Given the description of an element on the screen output the (x, y) to click on. 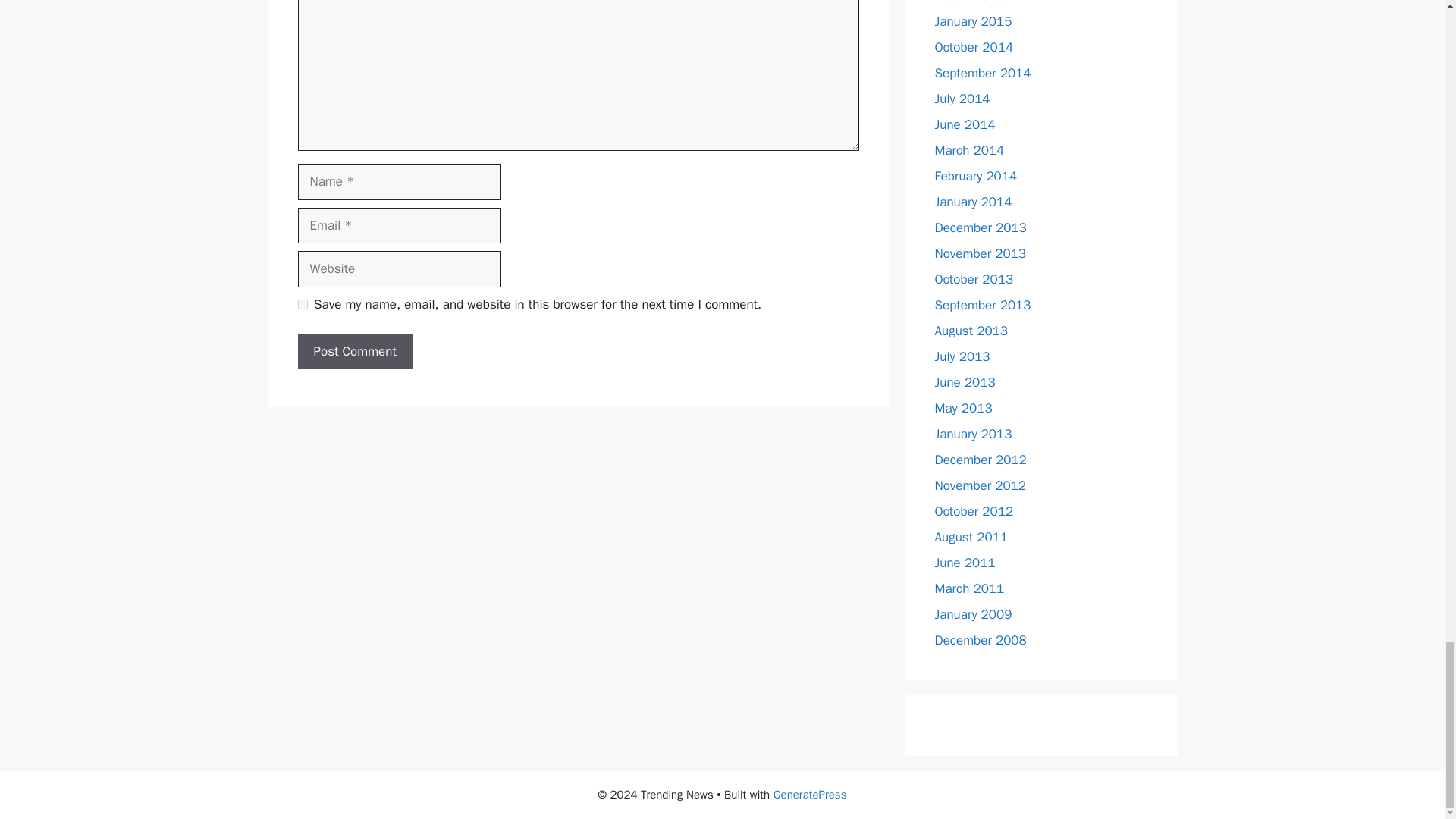
Post Comment (354, 351)
yes (302, 304)
Post Comment (354, 351)
